Given the description of an element on the screen output the (x, y) to click on. 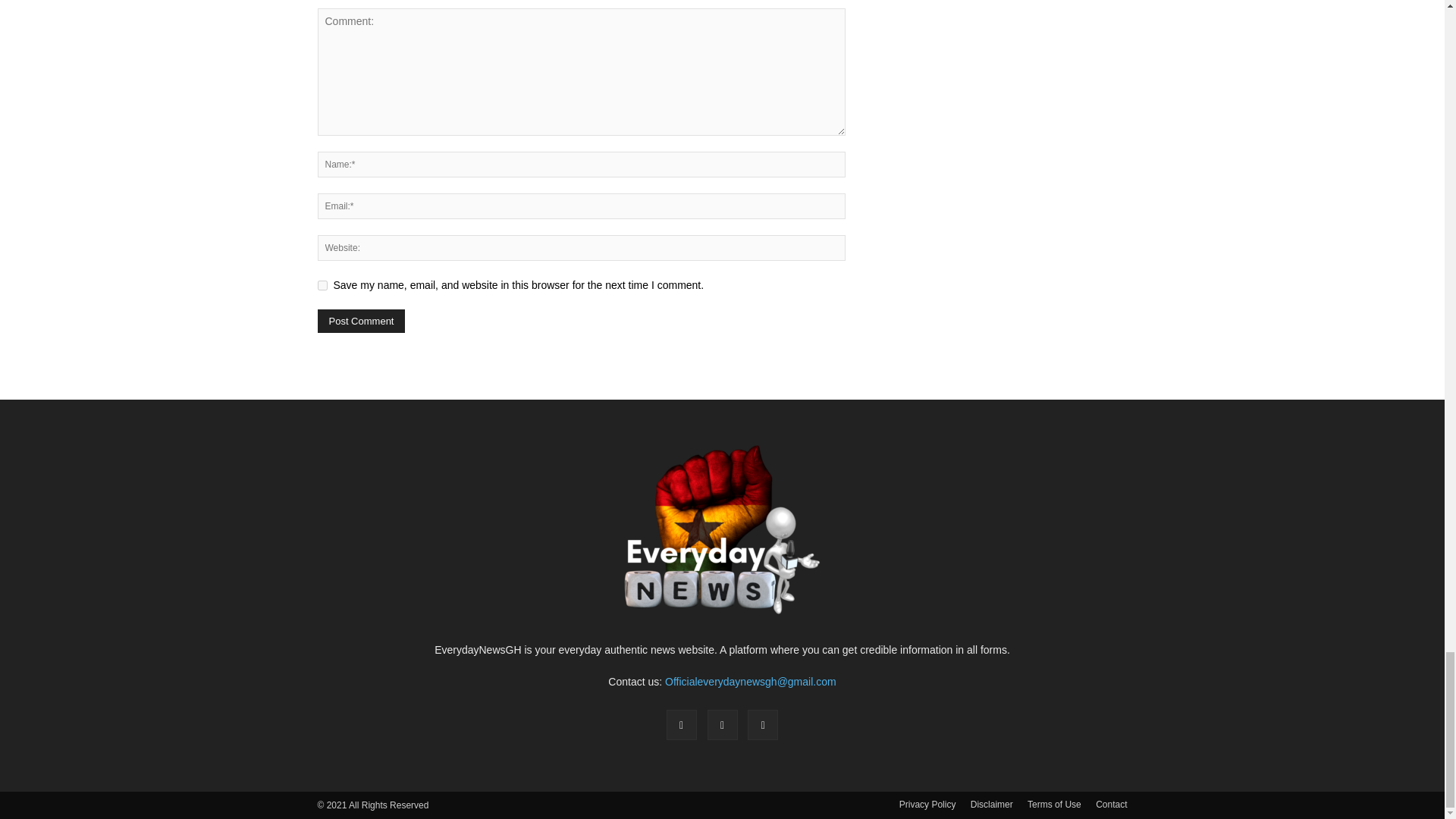
Post Comment (360, 320)
yes (321, 285)
